Given the description of an element on the screen output the (x, y) to click on. 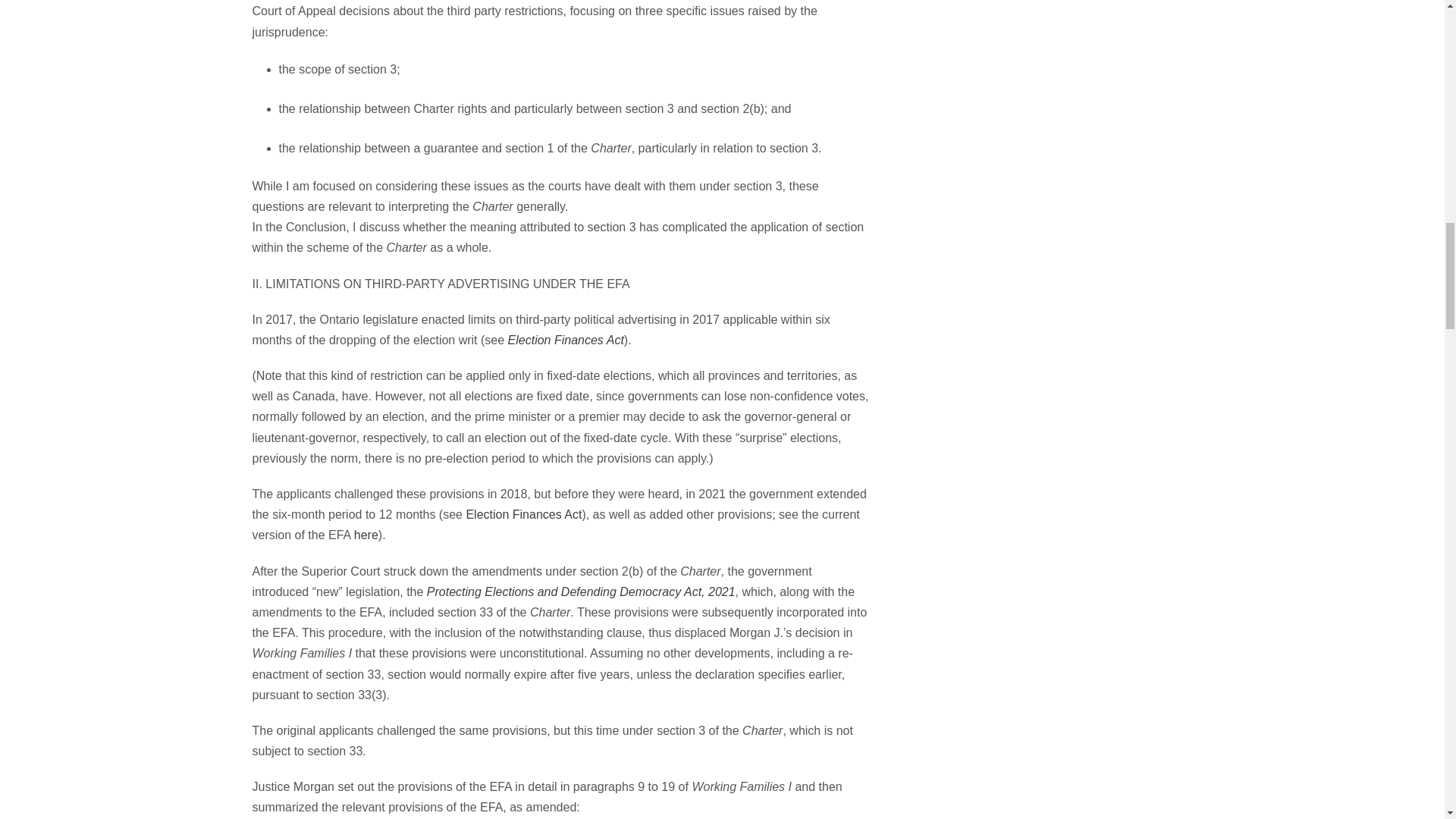
Protecting Elections and Defending Democracy Act, 2021 (580, 591)
here (365, 534)
Election Finances Act (522, 513)
Election Finances Act (566, 339)
